Given the description of an element on the screen output the (x, y) to click on. 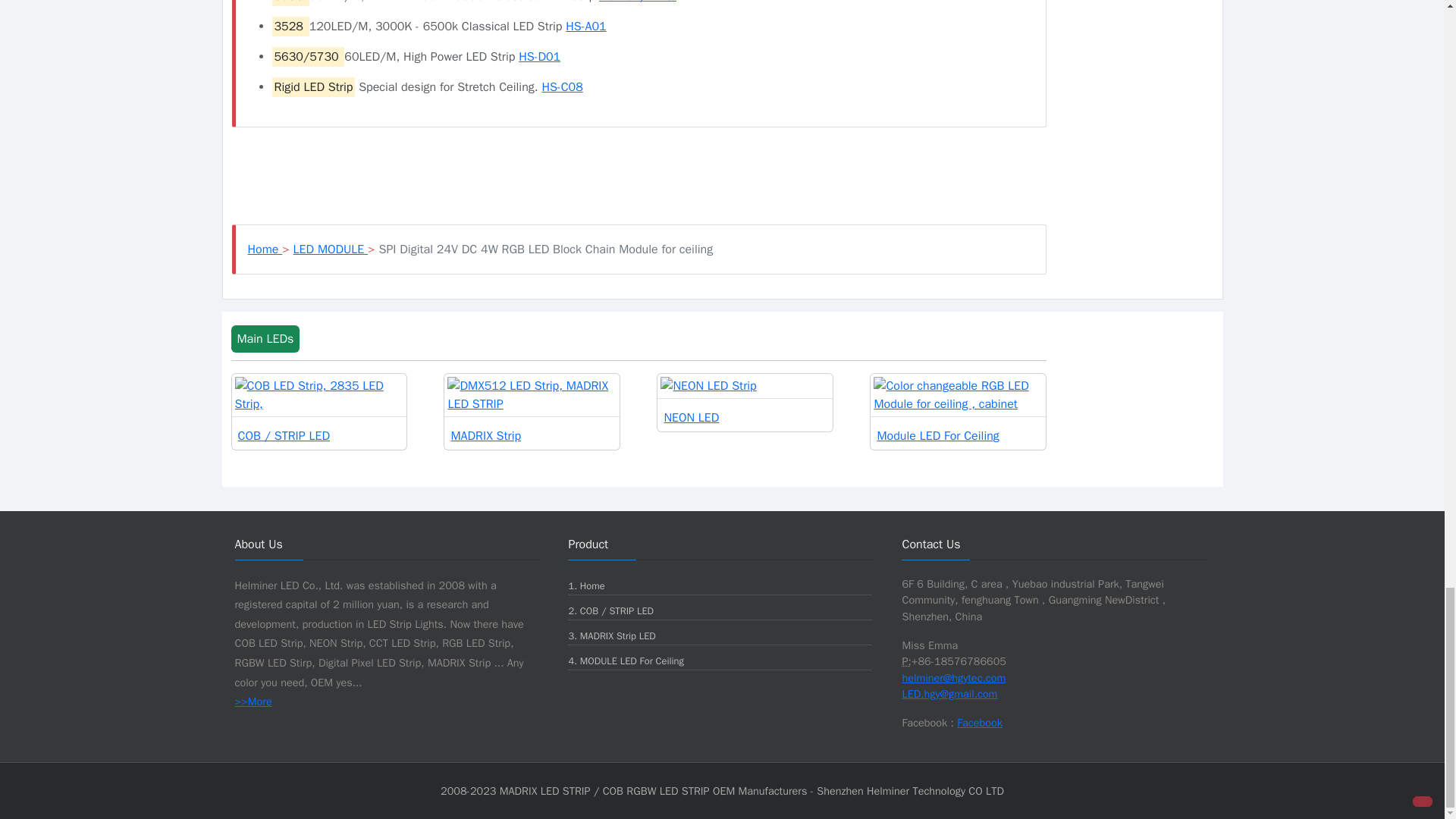
HS-C08 (561, 87)
1. Home (585, 585)
3. MADRIX Strip LED (611, 635)
NEON LED (745, 402)
 Color changeable LED Module for Ceiling light    (957, 411)
MADRIX Strip (532, 411)
4. MODULE LED For Ceiling (624, 661)
 Regular 12v 24v COB 2835 LED Strip Light     (319, 411)
Module LED For Ceiling (957, 411)
Home (264, 249)
HS-A01 (585, 26)
HS-D01 (539, 56)
LED MODULE (331, 249)
 Colorful LED Strip, DMX512 LED Strip, MADRIX LED Strip     (532, 411)
Facebook (979, 722)
